Given the description of an element on the screen output the (x, y) to click on. 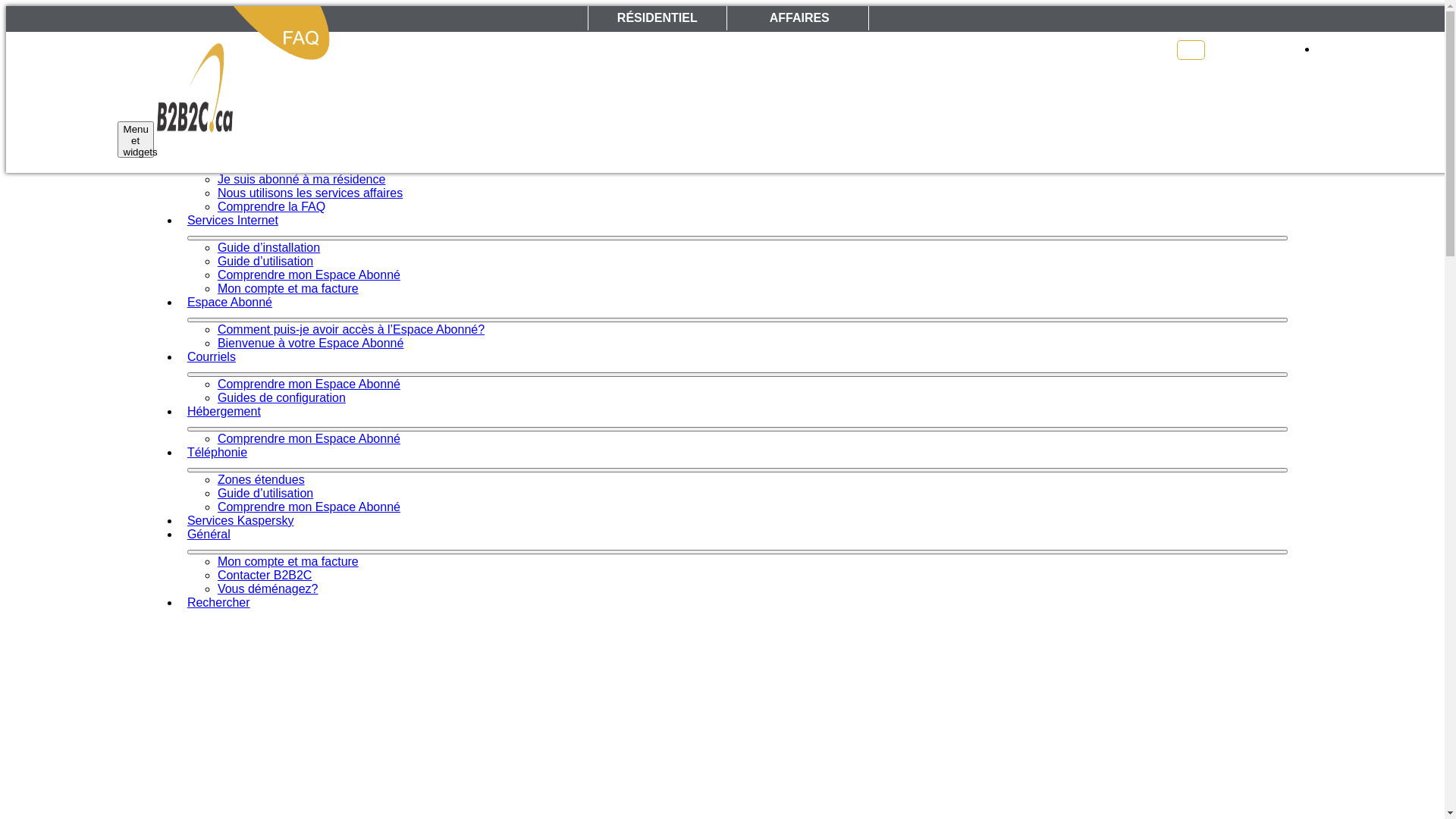
ouvrir le sous-menu Element type: text (737, 237)
ouvrir le sous-menu Element type: text (737, 551)
Mon compte et ma facture Element type: text (287, 288)
ouvrir le sous-menu Element type: text (737, 469)
Contacter B2B2C Element type: text (264, 574)
Nous utilisons les services affaires Element type: text (309, 192)
EN Element type: text (1328, 49)
Aller au contenu Element type: text (5, 5)
Courriels Element type: text (211, 356)
Mon compte et ma facture Element type: text (287, 561)
Menu et widgets Element type: text (135, 139)
AFFAIRES Element type: text (799, 17)
Guides de configuration Element type: text (281, 397)
Services Internet Element type: text (232, 219)
ouvrir le sous-menu Element type: text (737, 319)
Services Kaspersky Element type: text (240, 520)
Rechercher Element type: text (218, 602)
Bienvenue nouveaux clients Element type: text (292, 165)
FAQ Element type: text (1190, 49)
ouvrir le sous-menu Element type: text (737, 428)
ouvrir le sous-menu Element type: text (737, 155)
Commencez ici Element type: text (228, 137)
ouvrir le sous-menu Element type: text (737, 374)
Comprendre la FAQ Element type: text (271, 206)
